Given the description of an element on the screen output the (x, y) to click on. 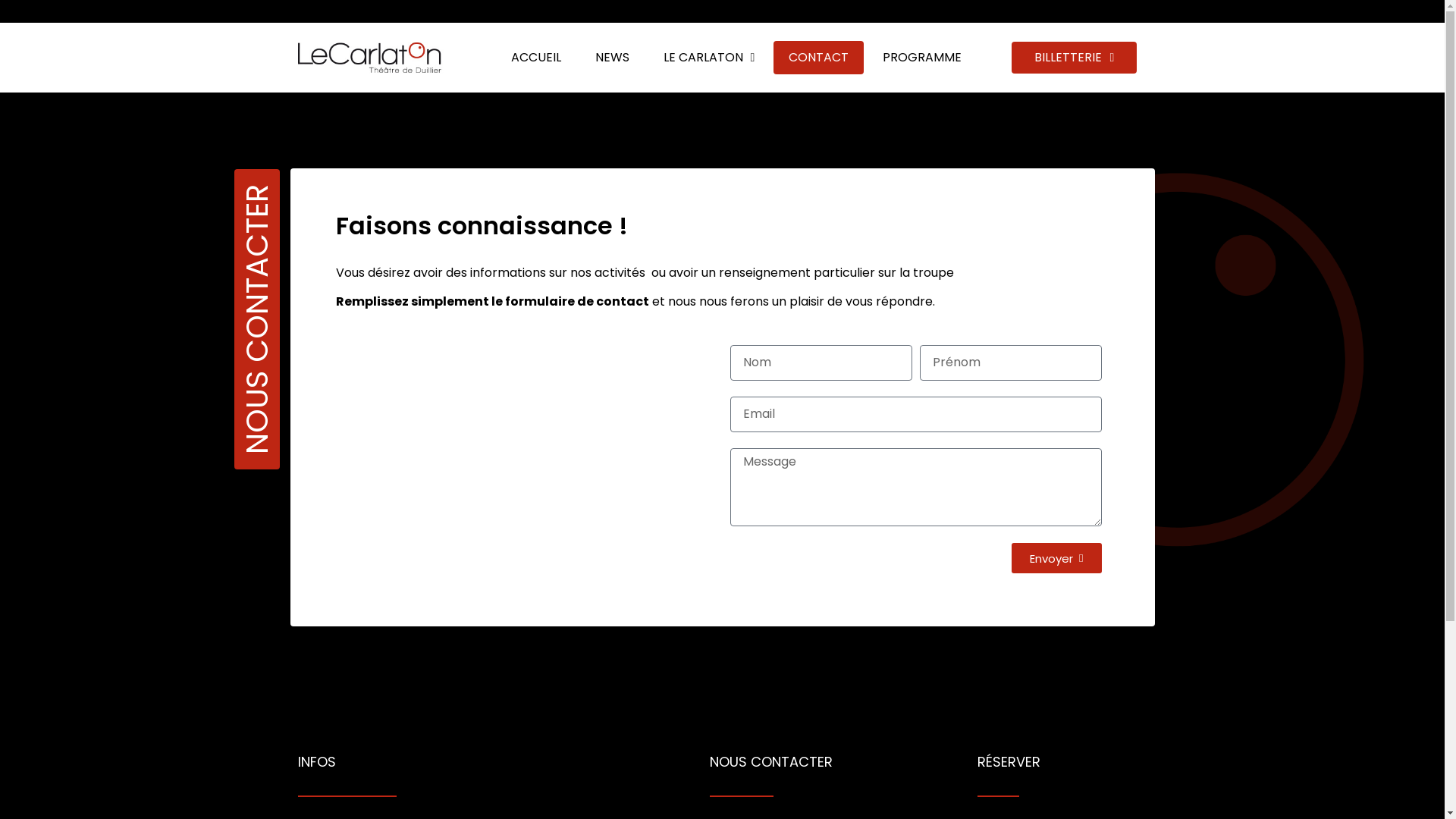
CONTACT Element type: text (818, 57)
PROGRAMME Element type: text (921, 57)
LE CARLATON Element type: text (708, 57)
ACCUEIL Element type: text (535, 57)
Envoyer Element type: text (1056, 557)
NEWS Element type: text (611, 57)
BILLETTERIE Element type: text (1073, 57)
